Given the description of an element on the screen output the (x, y) to click on. 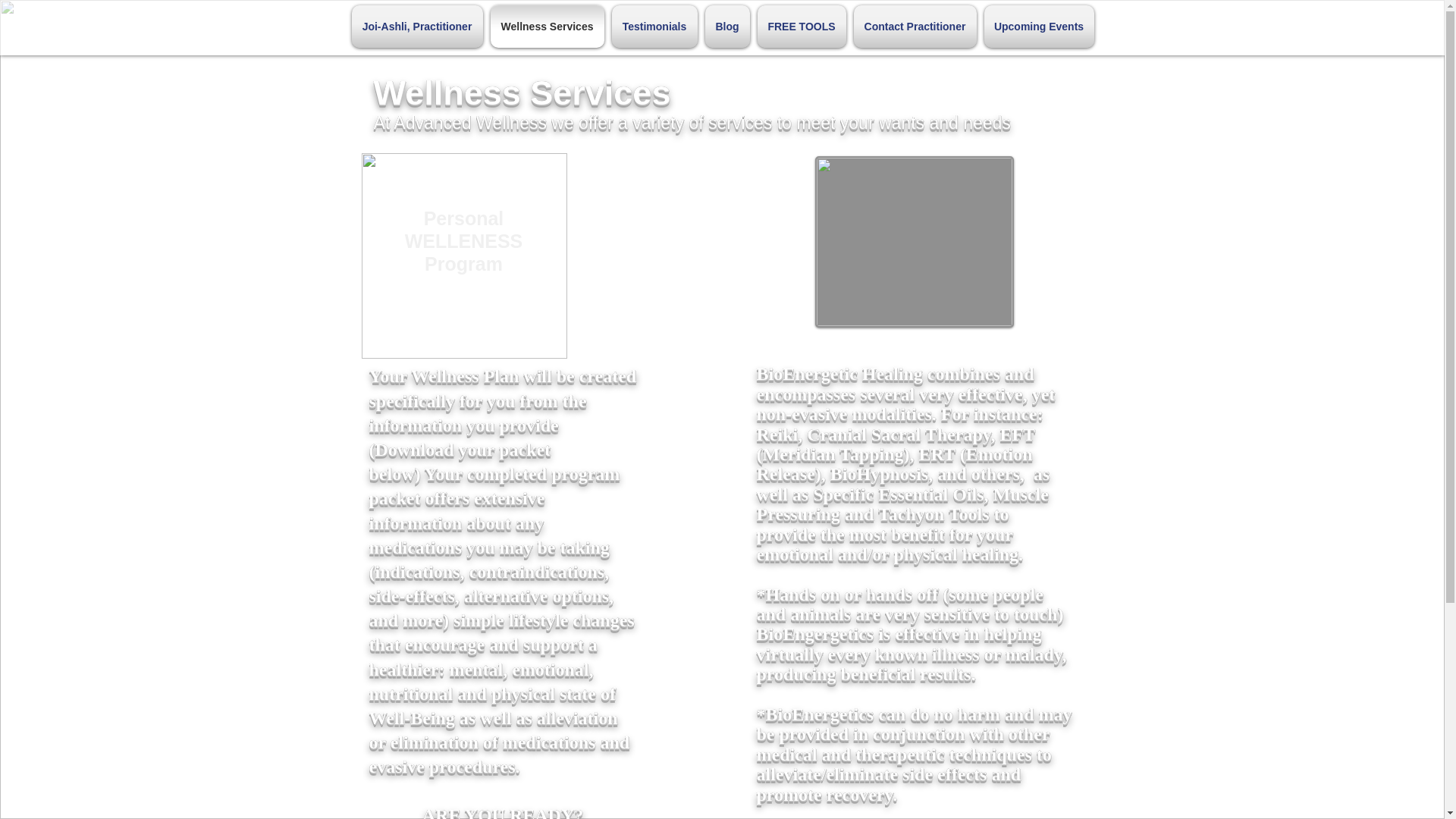
FREE TOOLS (802, 25)
BioEnergetics Pic.001.jpeg (913, 241)
Contact Practitioner (913, 25)
Wellness Services (547, 25)
Upcoming Events (1036, 25)
Joi-Ashli, Practitioner (419, 25)
Blog (726, 25)
Testimonials (654, 25)
